Given the description of an element on the screen output the (x, y) to click on. 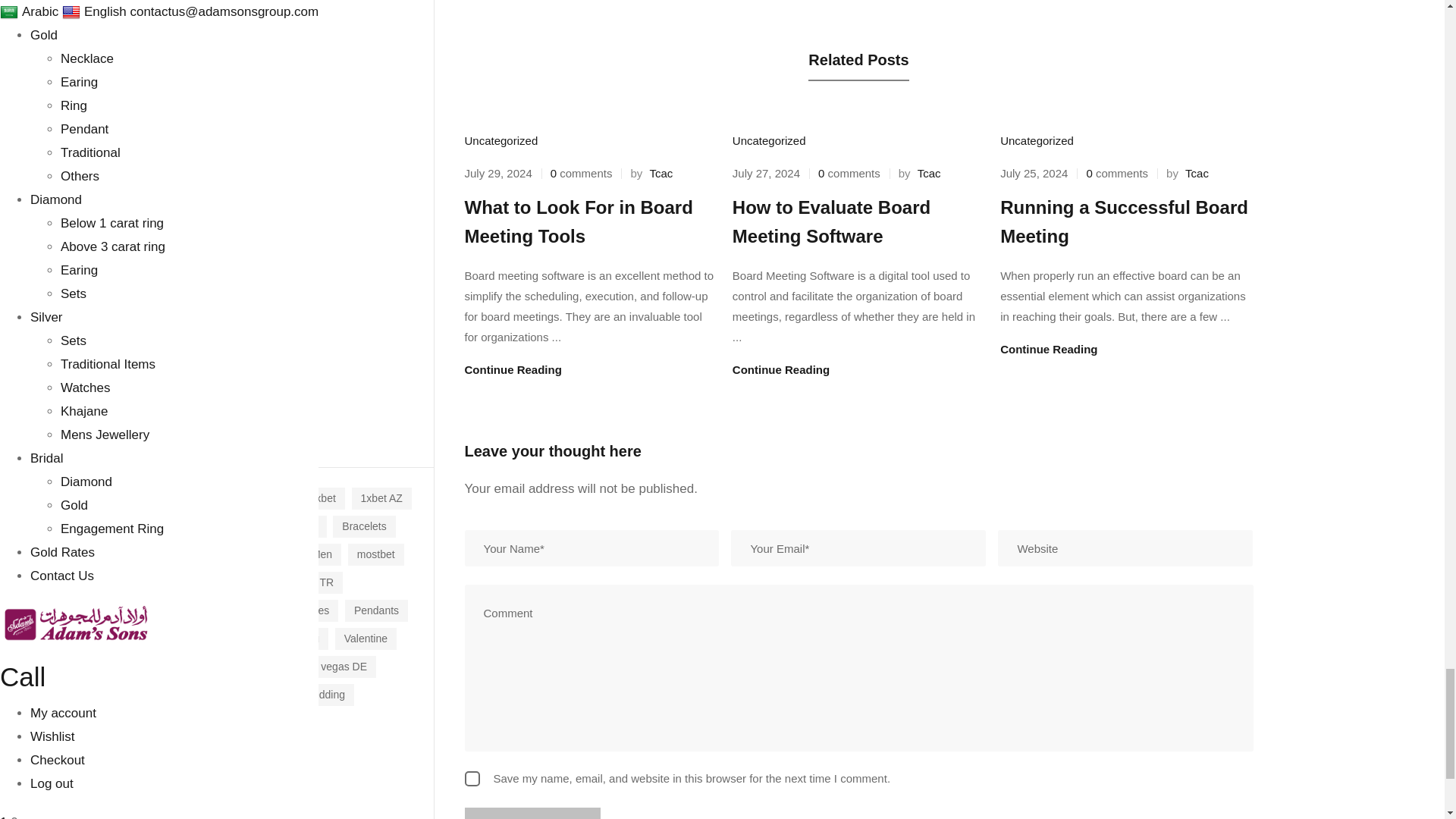
Post Comment (531, 813)
